Given the description of an element on the screen output the (x, y) to click on. 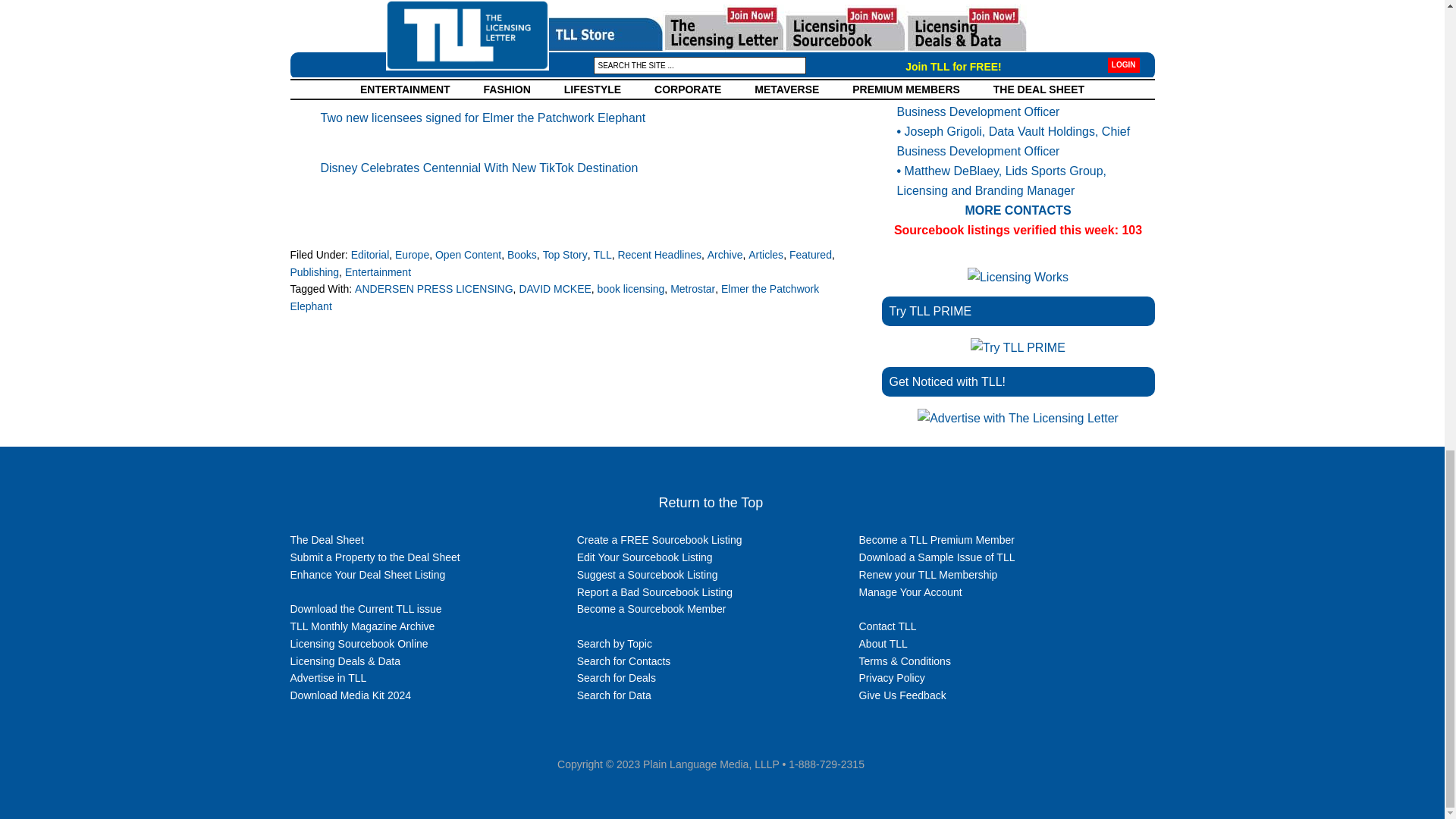
ANDERSEN PRESS LICENSING (434, 288)
Editorial (370, 254)
Europe (411, 254)
Publishing (314, 271)
Articles (765, 254)
Recent Headlines (659, 254)
Top Story (565, 254)
Two new licensees signed for Elmer the Patchwork Elephant (482, 117)
Books (521, 254)
Featured (810, 254)
